Given the description of an element on the screen output the (x, y) to click on. 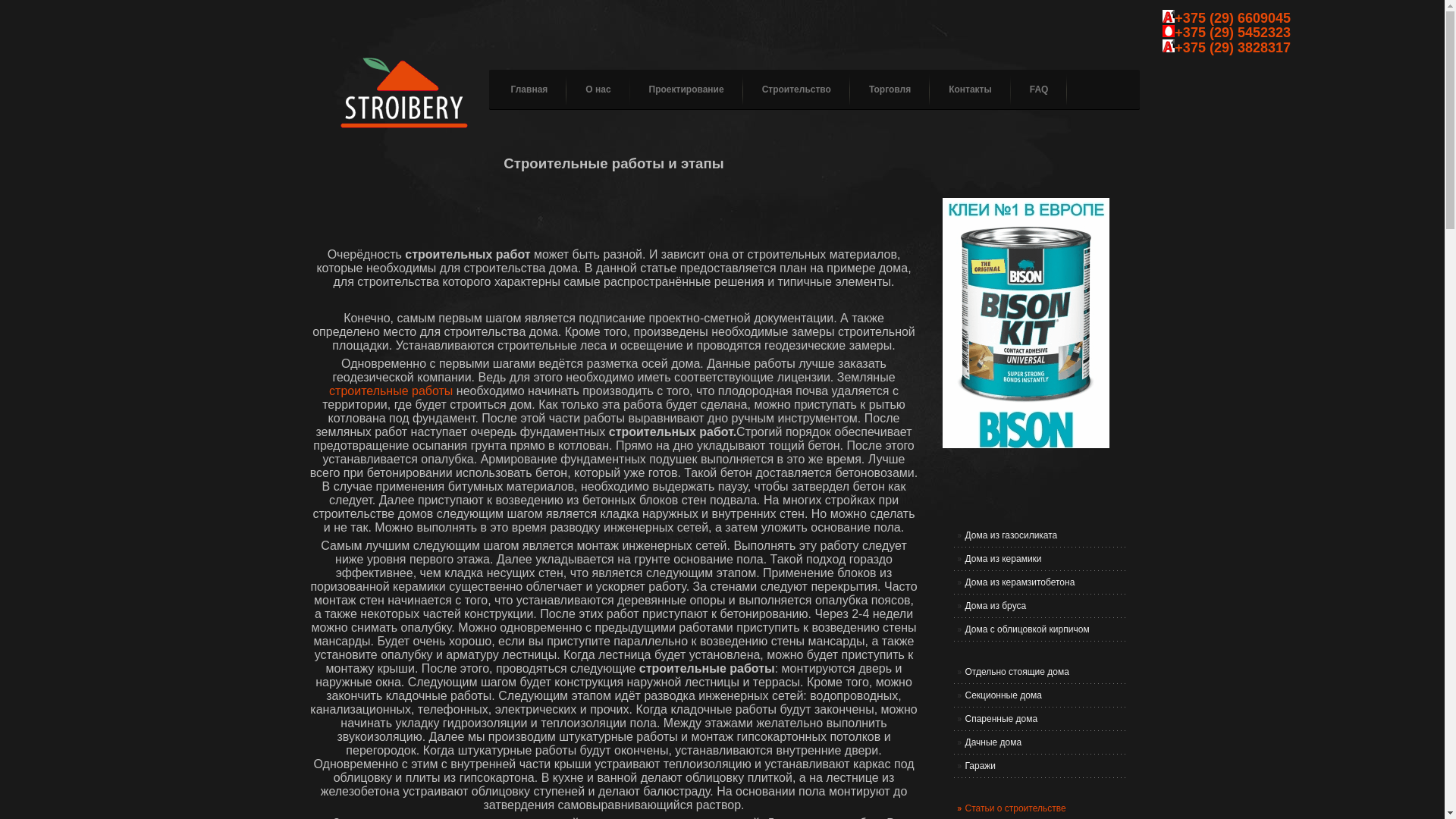
FAQ Element type: text (1029, 89)
